Given the description of an element on the screen output the (x, y) to click on. 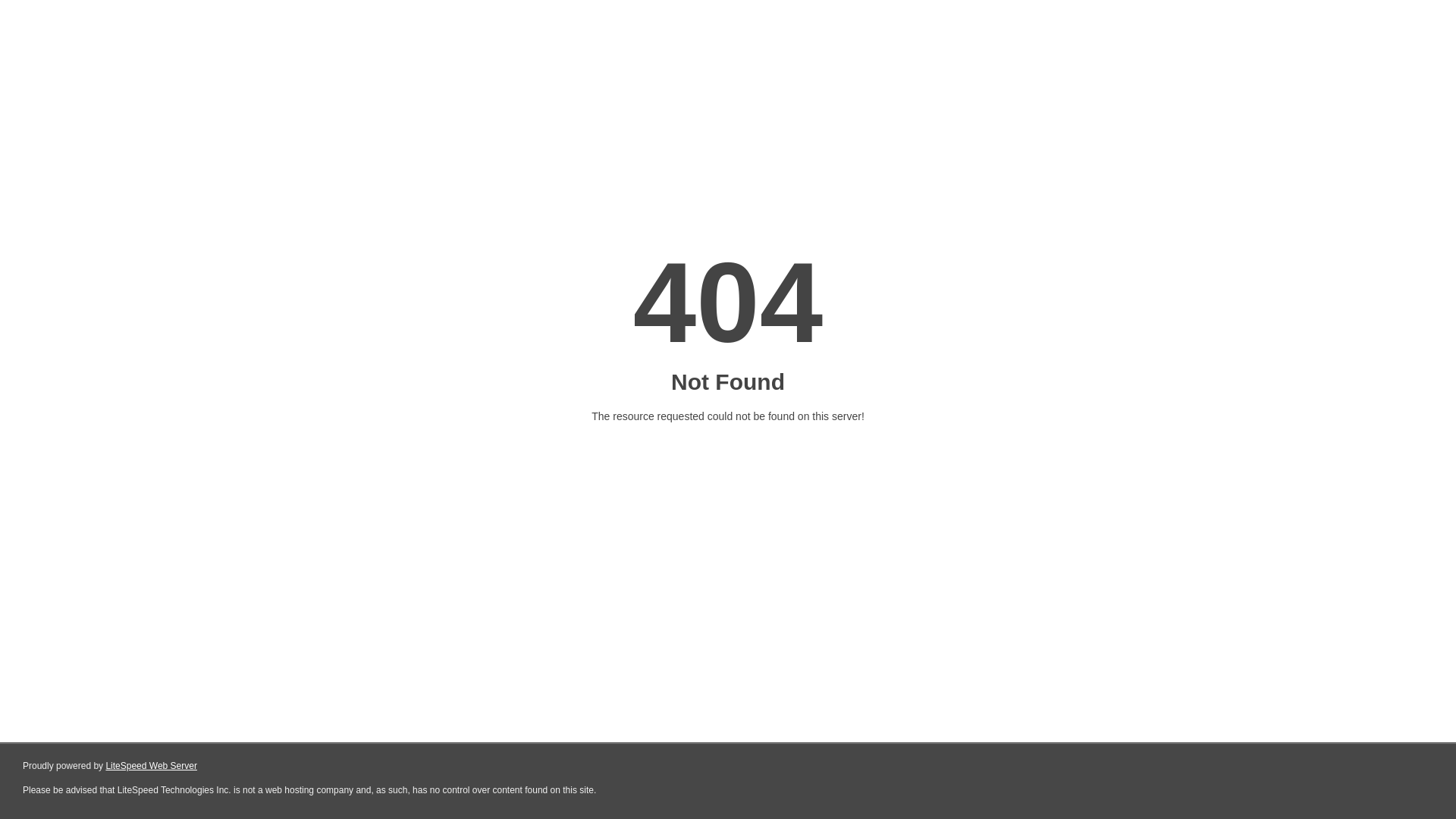
LiteSpeed Web Server Element type: text (151, 765)
